Given the description of an element on the screen output the (x, y) to click on. 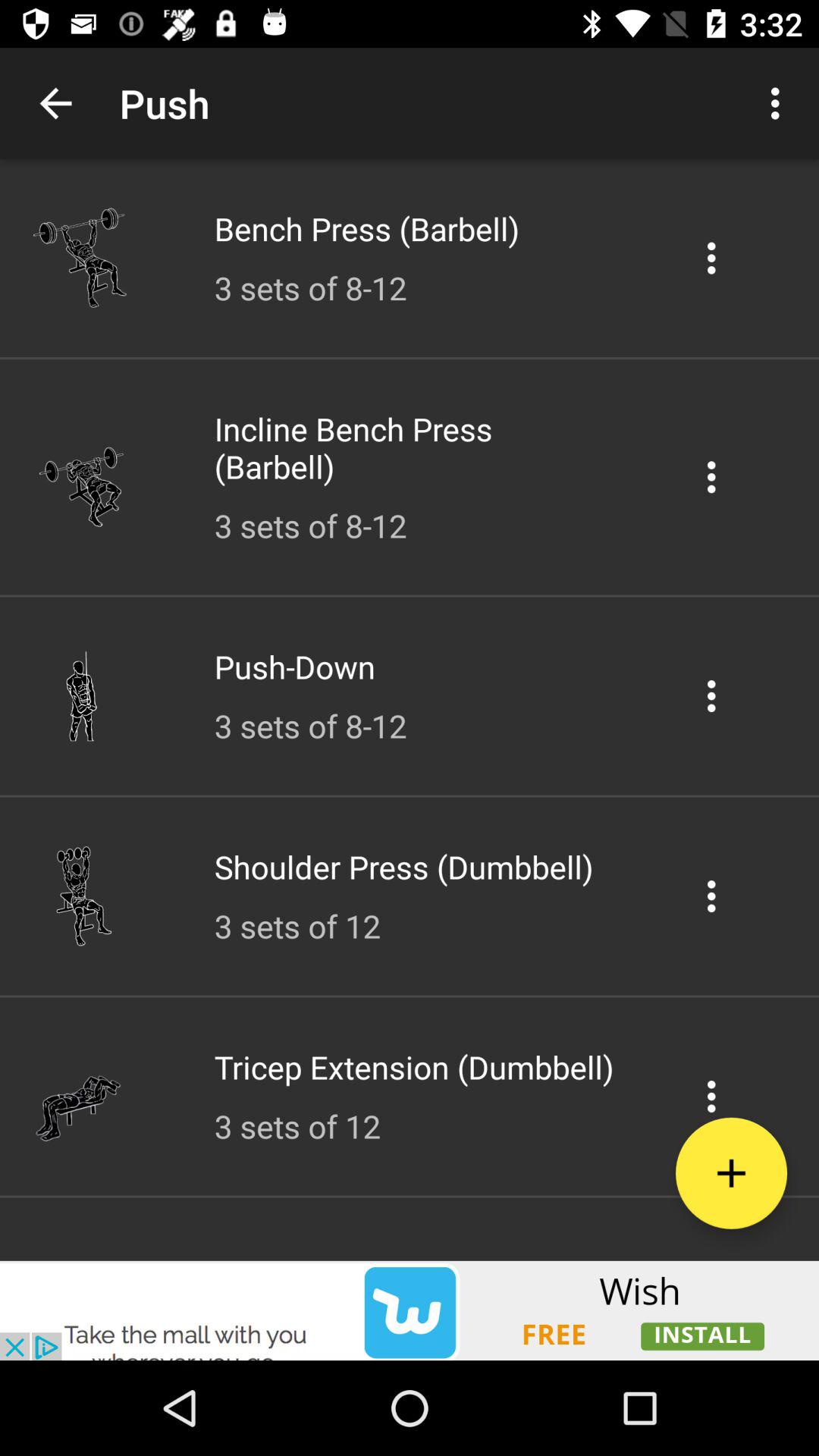
setting (711, 258)
